Given the description of an element on the screen output the (x, y) to click on. 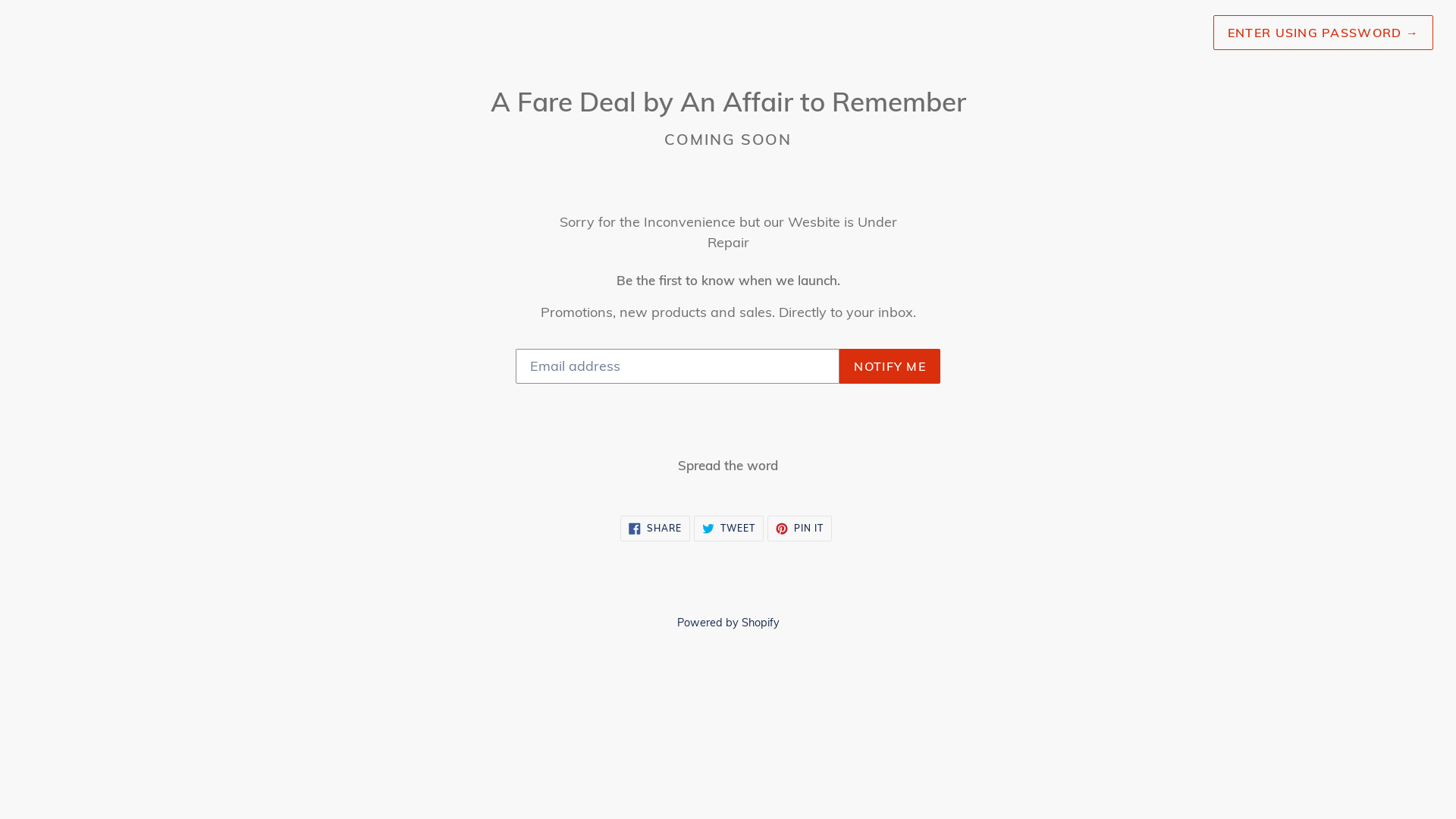
SHARE
SHARE ON FACEBOOK Element type: text (655, 528)
Powered by Shopify Element type: text (727, 622)
TWEET
TWEET ON TWITTER Element type: text (728, 528)
PIN IT
PIN ON PINTEREST Element type: text (799, 528)
NOTIFY ME Element type: text (889, 365)
